Given the description of an element on the screen output the (x, y) to click on. 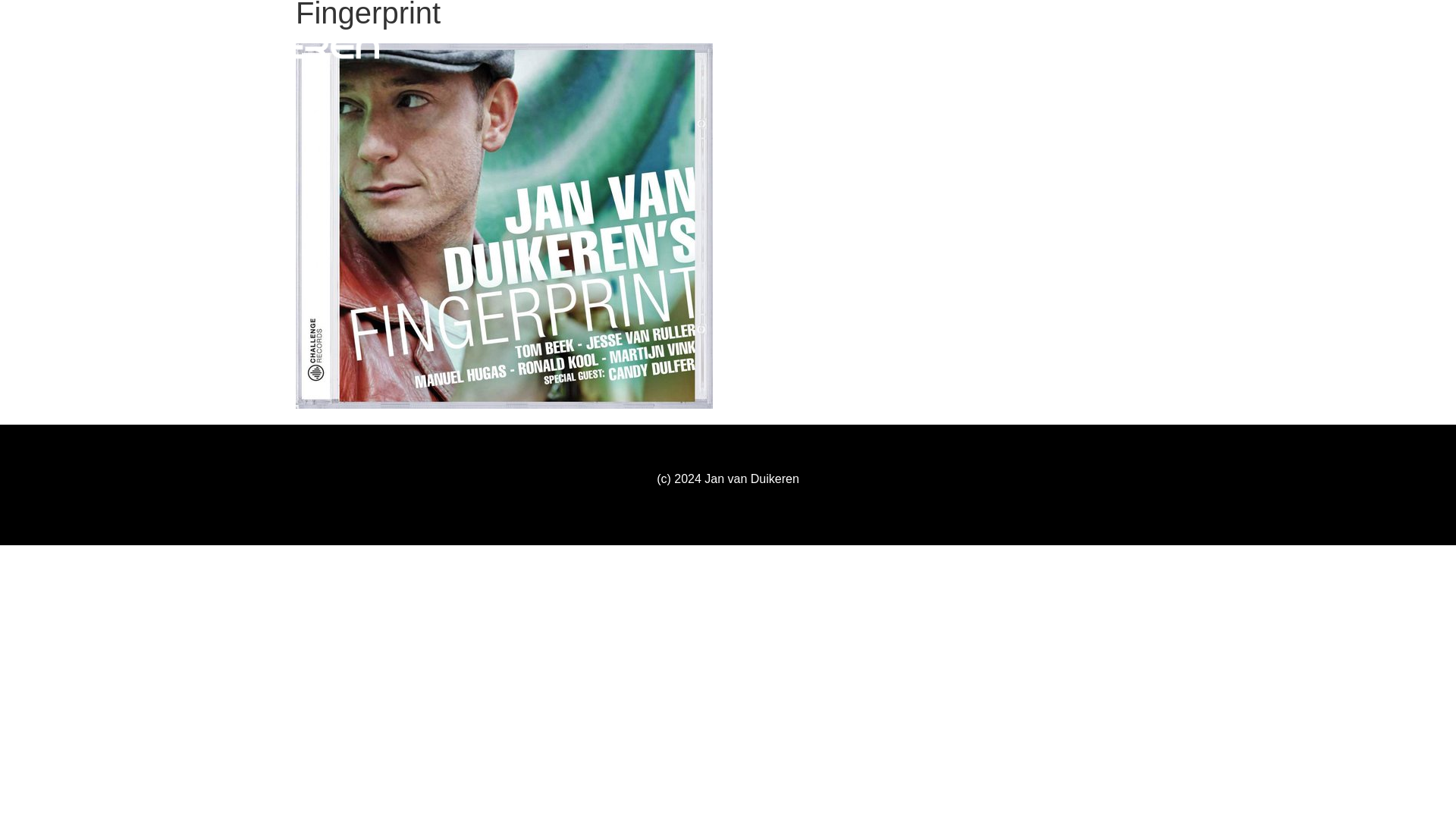
BIO (1121, 46)
STUDIO (1174, 46)
CONTACT (1361, 46)
DISCOGRAPHY (1265, 46)
HOME (1072, 46)
